Given the description of an element on the screen output the (x, y) to click on. 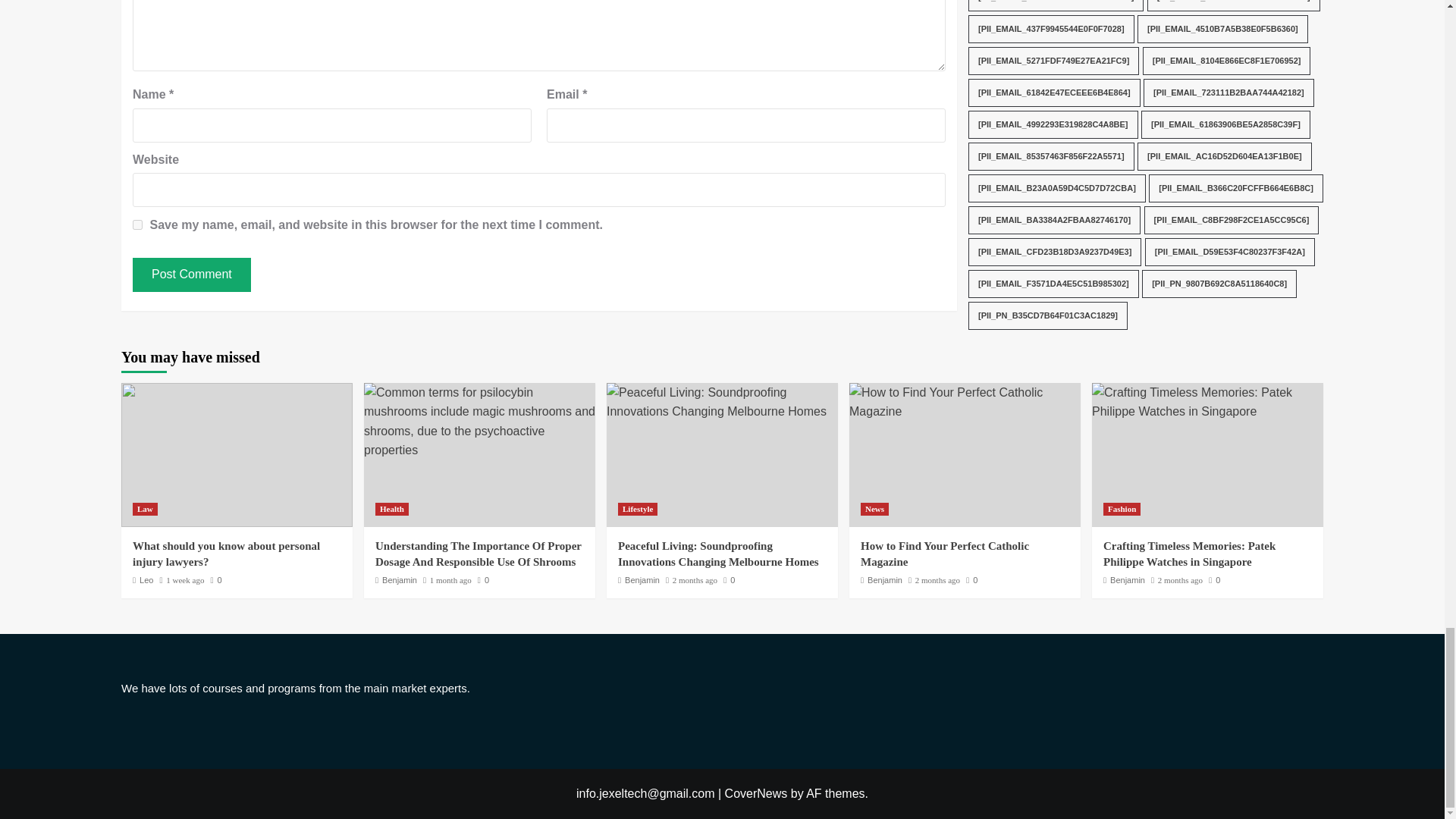
yes (137, 225)
Post Comment (191, 274)
